Given the description of an element on the screen output the (x, y) to click on. 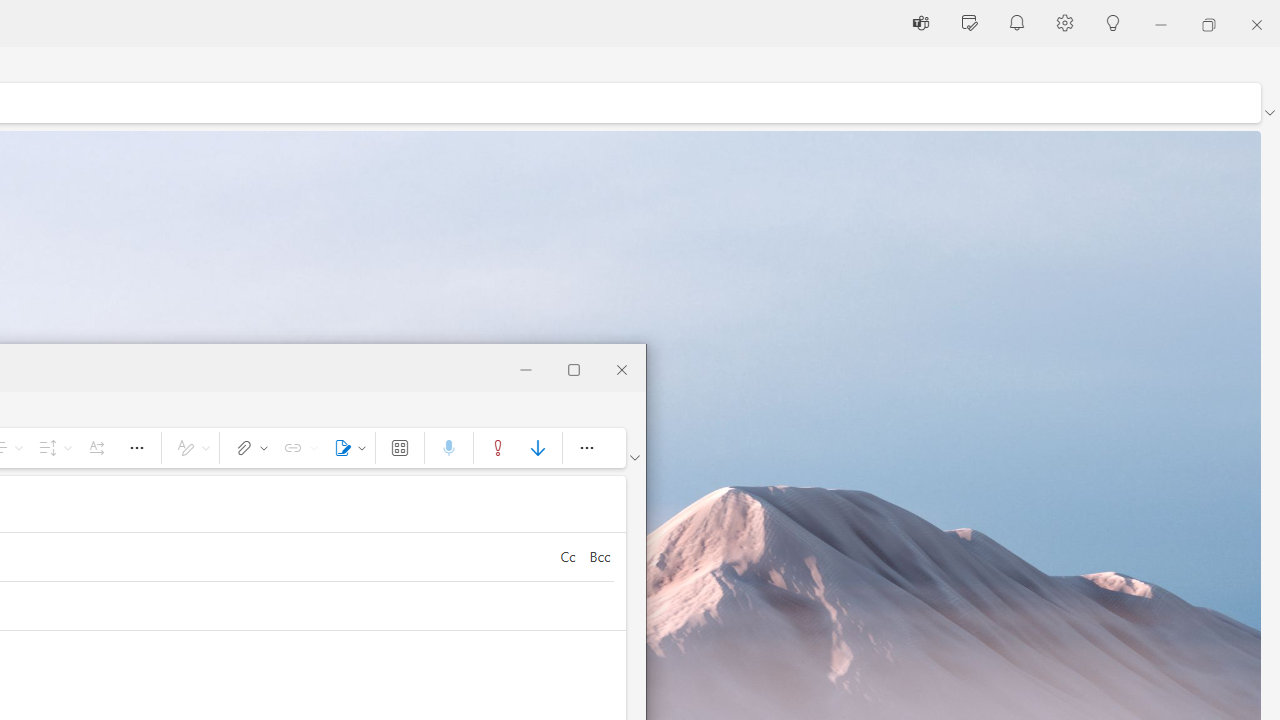
Ribbon display options (634, 457)
Maximize (573, 367)
More options (586, 447)
High importance (497, 447)
Cc (567, 556)
Left-to-right (96, 447)
Low importance (538, 447)
Attach file (248, 447)
Dictate (448, 447)
Spacing (52, 447)
Apps (399, 447)
Signature (346, 447)
Link (297, 447)
